Given the description of an element on the screen output the (x, y) to click on. 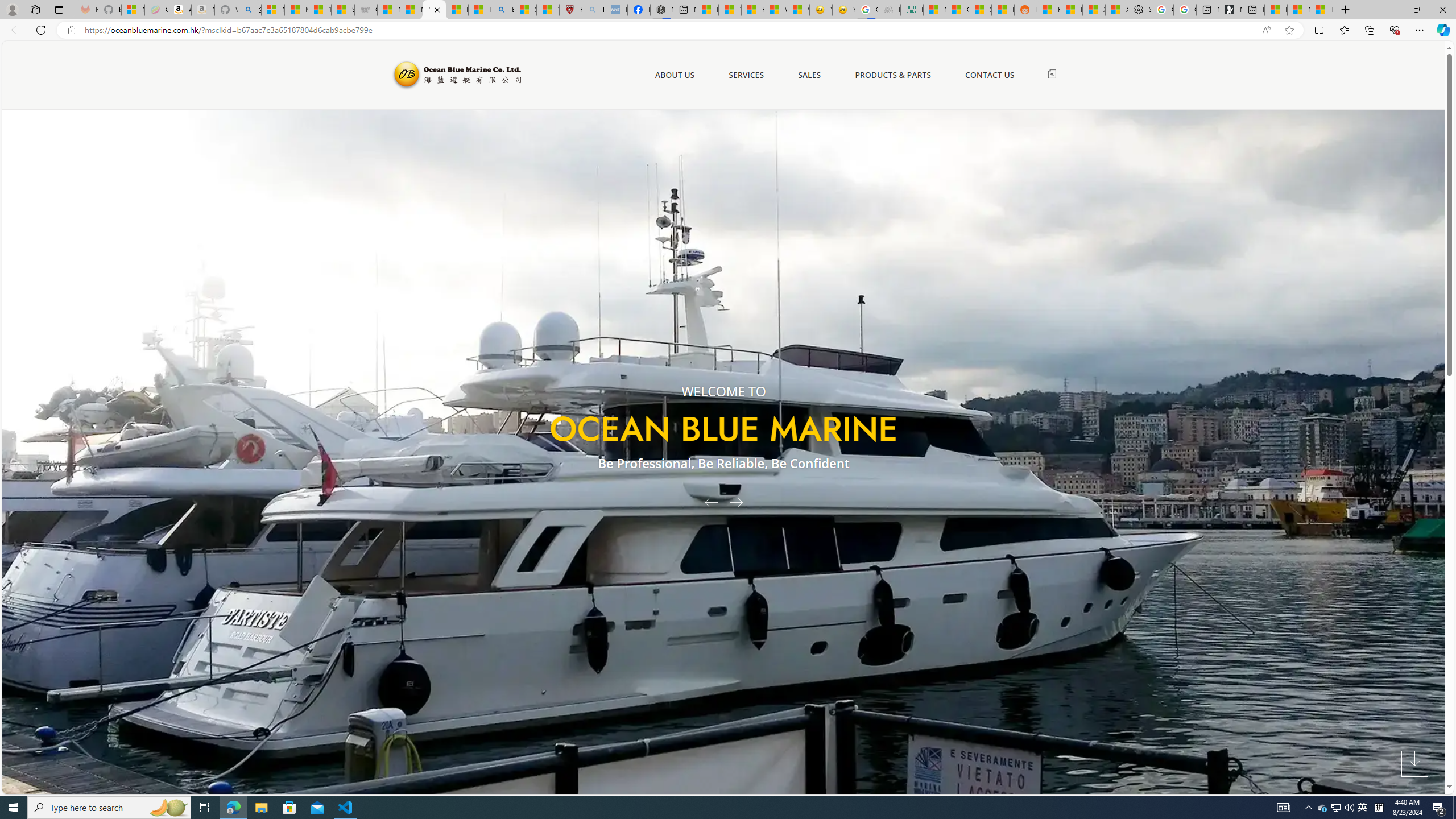
ABOUT US (674, 75)
Previous Slide (706, 501)
14 Common Myths Debunked By Scientific Facts (729, 9)
Next Slide (740, 501)
